Given the description of an element on the screen output the (x, y) to click on. 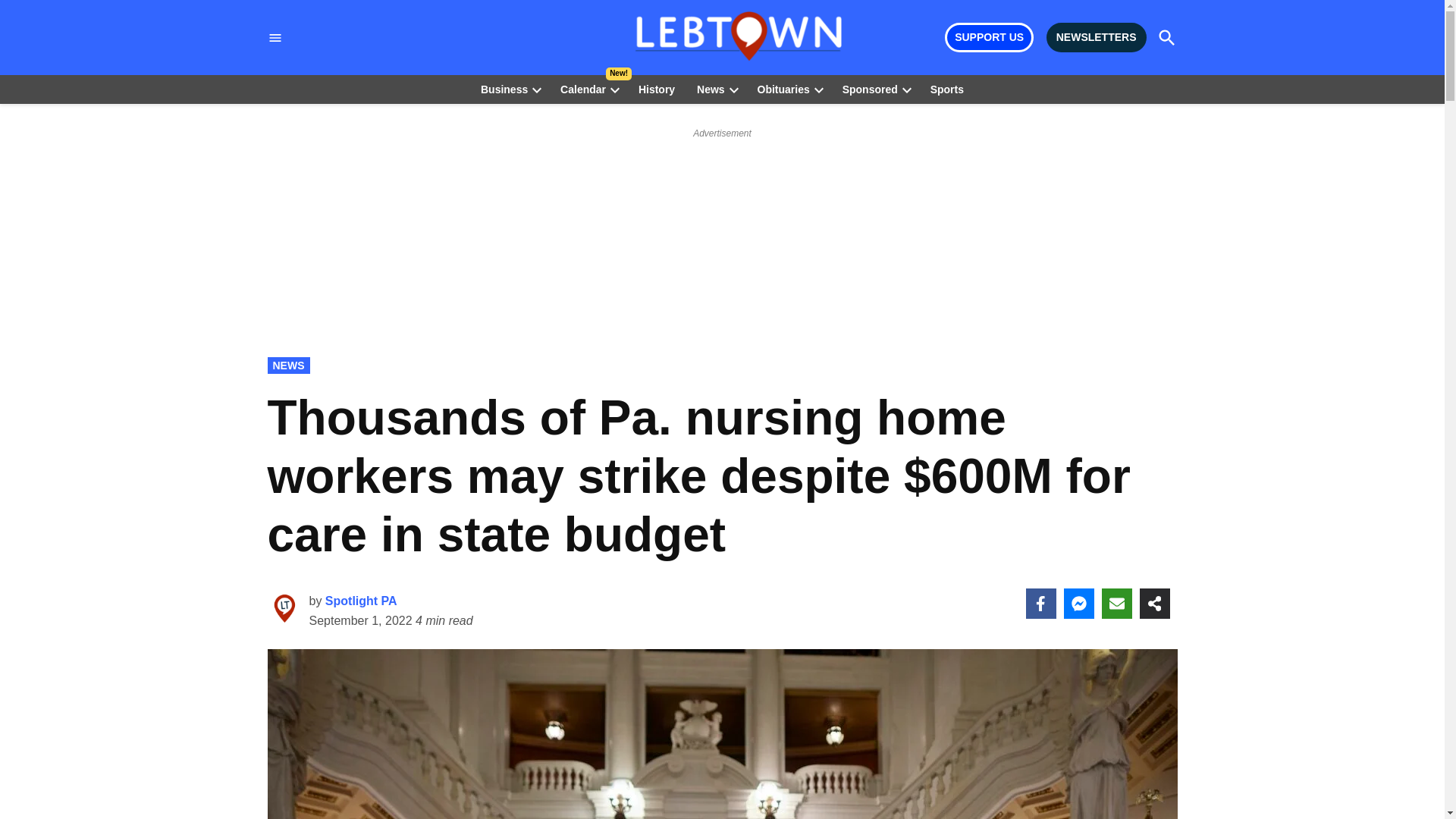
3rd party ad content (722, 178)
